Given the description of an element on the screen output the (x, y) to click on. 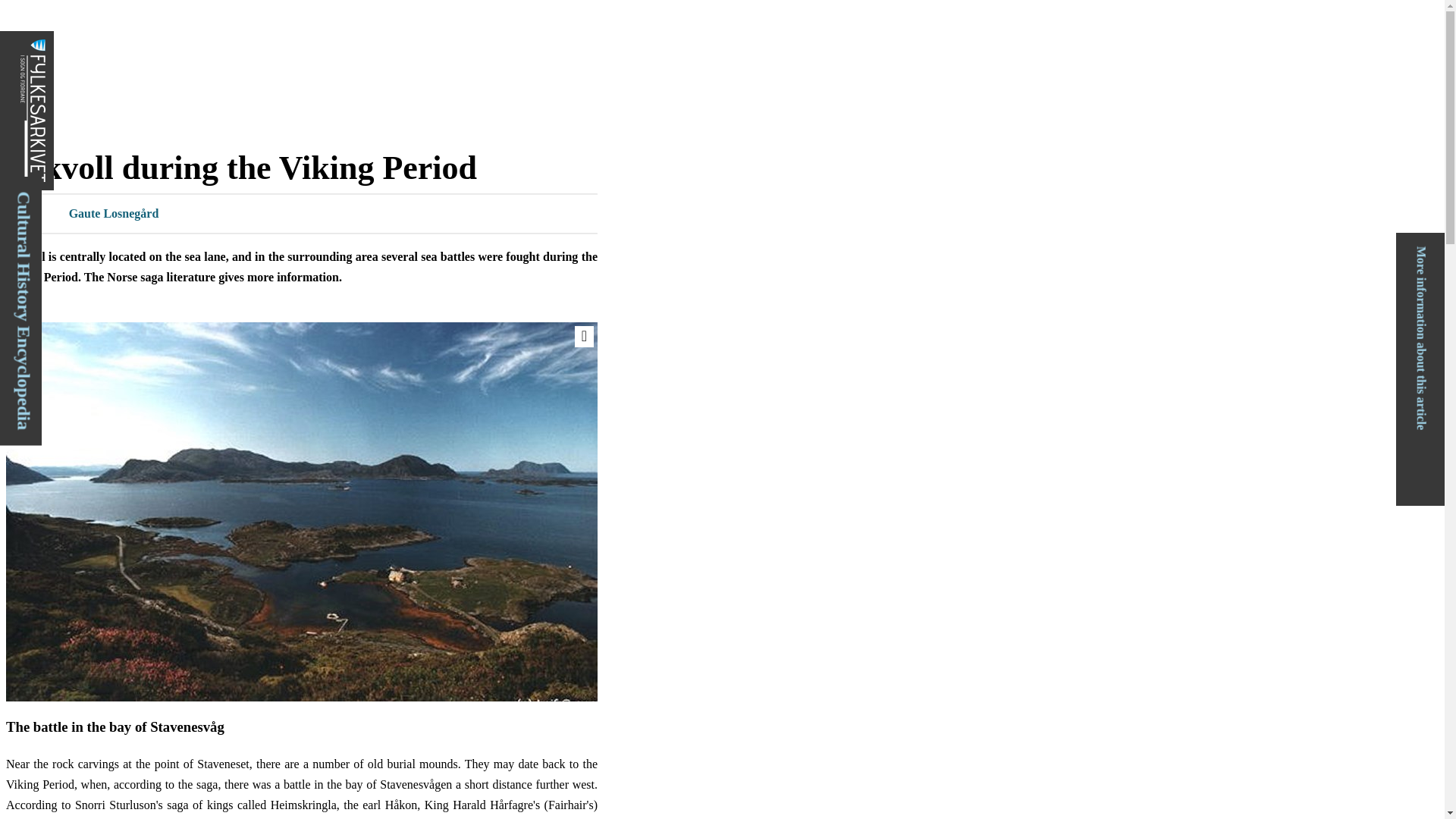
Cultural History Encyclopedia (132, 200)
Article (23, 76)
